Given the description of an element on the screen output the (x, y) to click on. 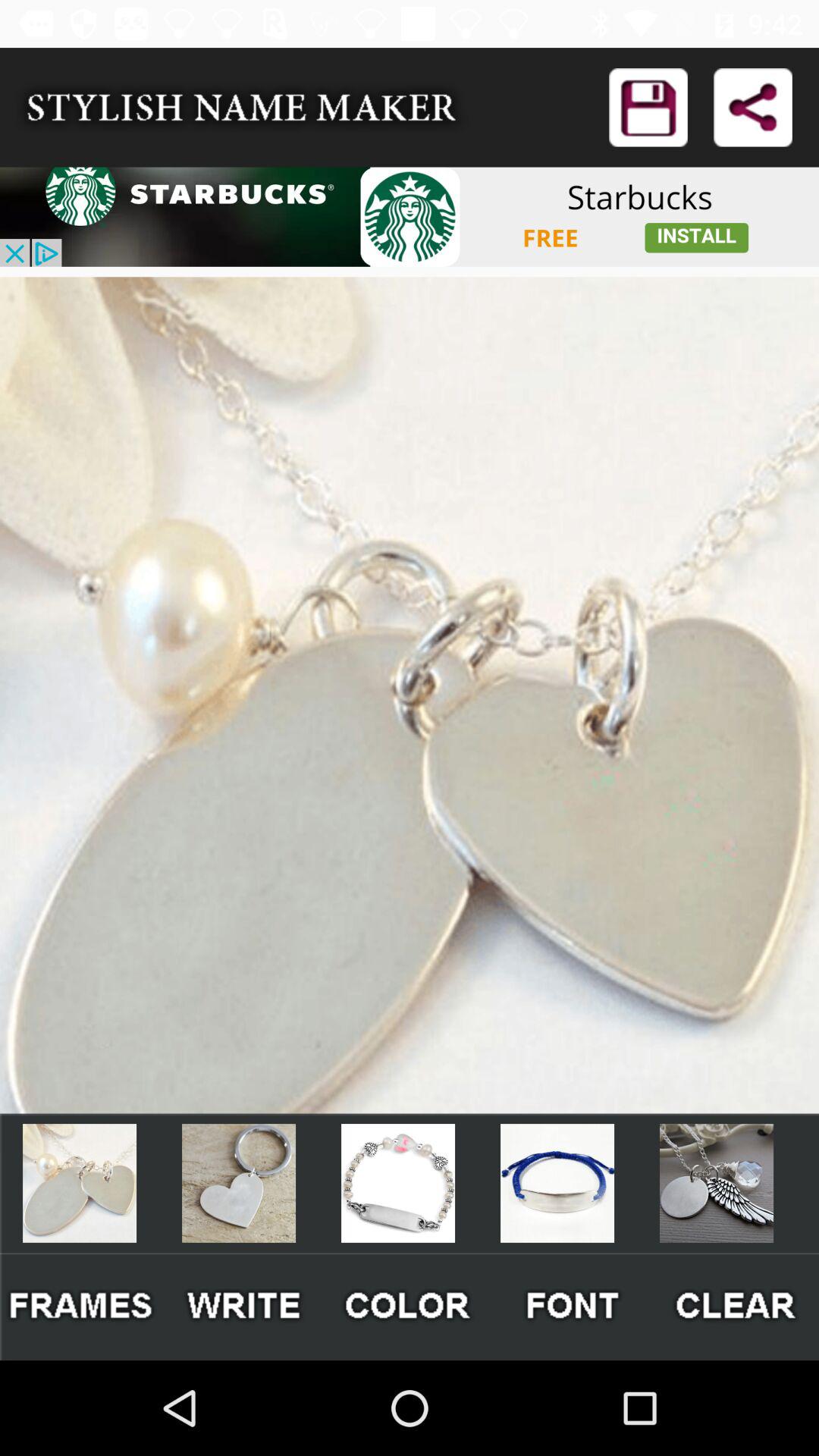
change font (573, 1306)
